Given the description of an element on the screen output the (x, y) to click on. 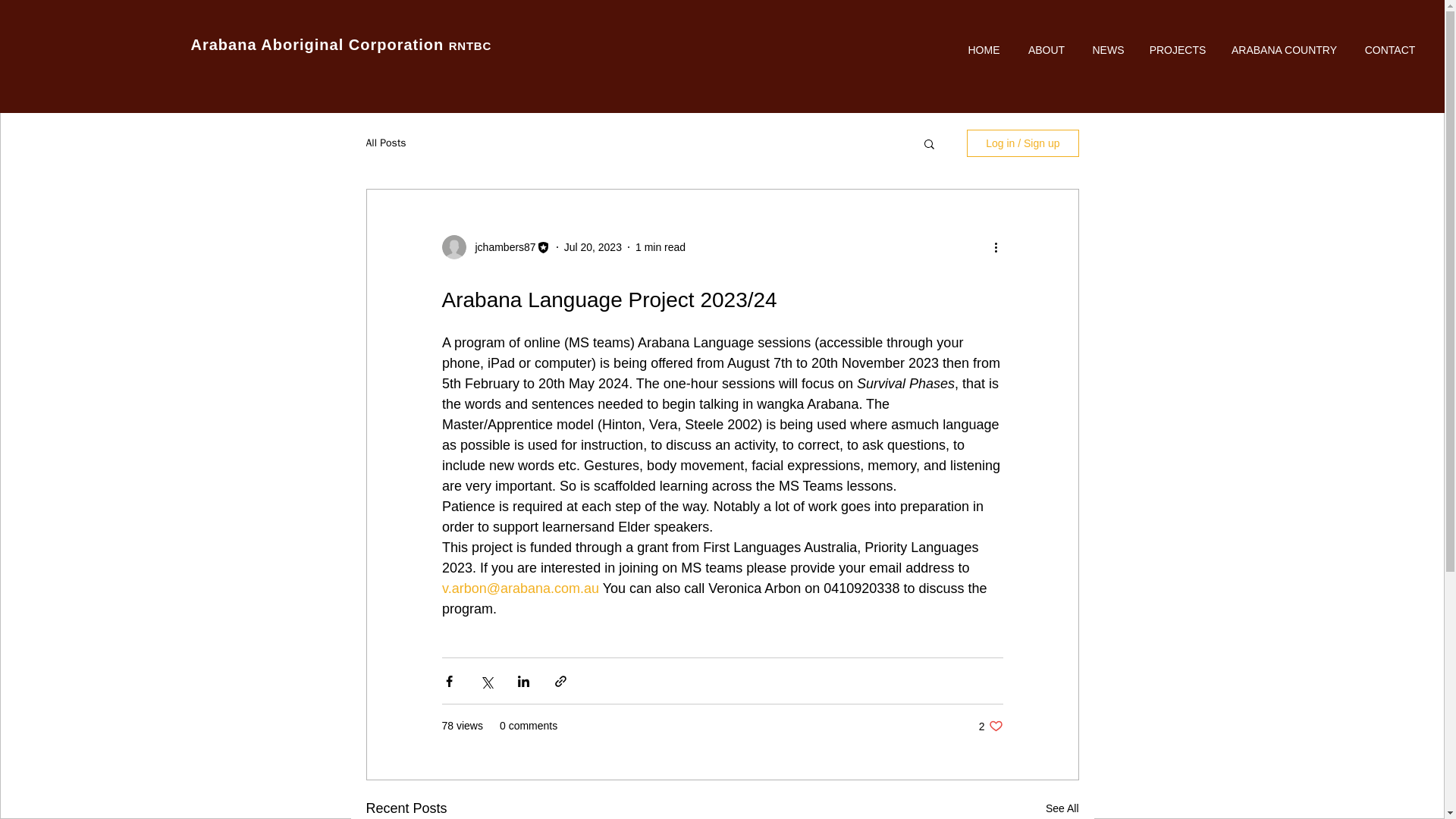
ARABANA COUNTRY (1284, 50)
Jul 20, 2023 (592, 246)
1 min read (659, 246)
PROJECTS (1177, 50)
Arabana  (226, 44)
Aboriginal Corporation  (354, 44)
HOME (983, 50)
ABOUT (1045, 50)
RNTBC (470, 45)
jchambers87 (500, 247)
NEWS (1107, 50)
CONTACT (1390, 50)
All Posts (385, 142)
See All (1061, 808)
